Given the description of an element on the screen output the (x, y) to click on. 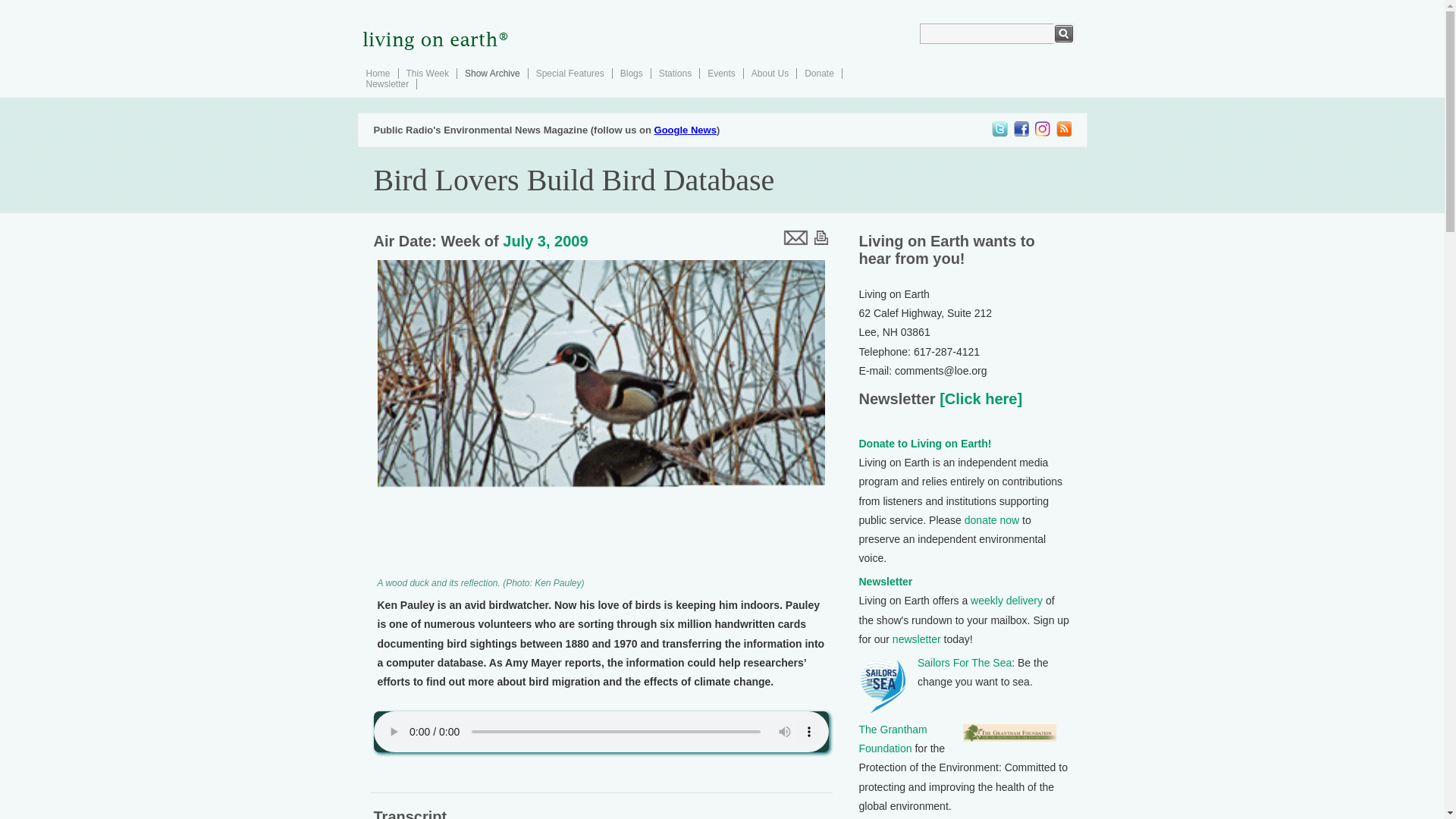
email (794, 236)
Home (377, 72)
Newsletter (885, 581)
Stations (675, 72)
print (819, 236)
July 3, 2009 (545, 240)
Show Archive (491, 72)
This Week (427, 72)
Newsletter (387, 83)
Special Features (569, 72)
